Given the description of an element on the screen output the (x, y) to click on. 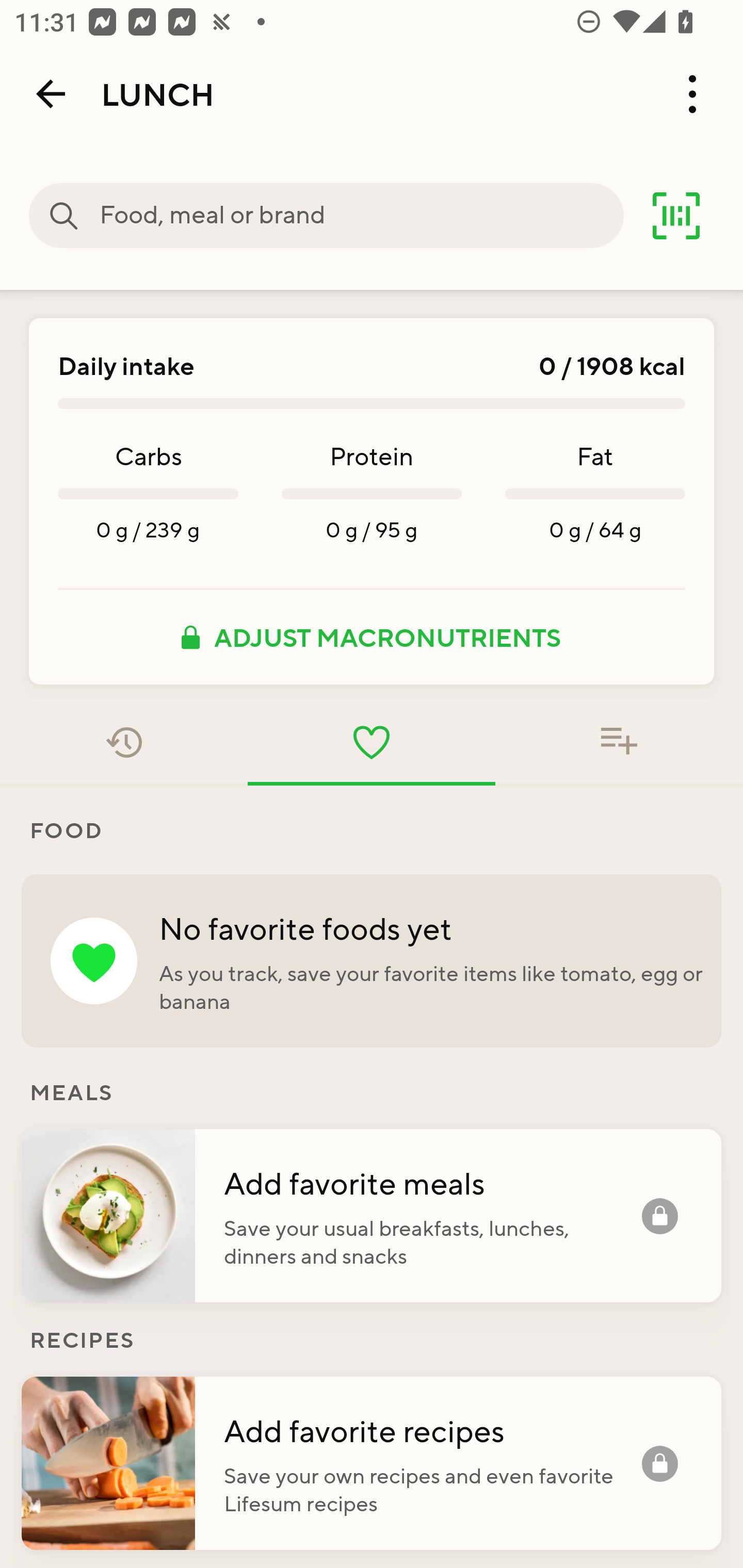
Back (50, 93)
Food, meal or brand (63, 215)
Food, meal or brand (361, 215)
ADJUST MACRONUTRIENTS (371, 637)
Recent (123, 742)
Food added (619, 742)
Add favorite meals (432, 1182)
Add favorite recipes (432, 1429)
